Given the description of an element on the screen output the (x, y) to click on. 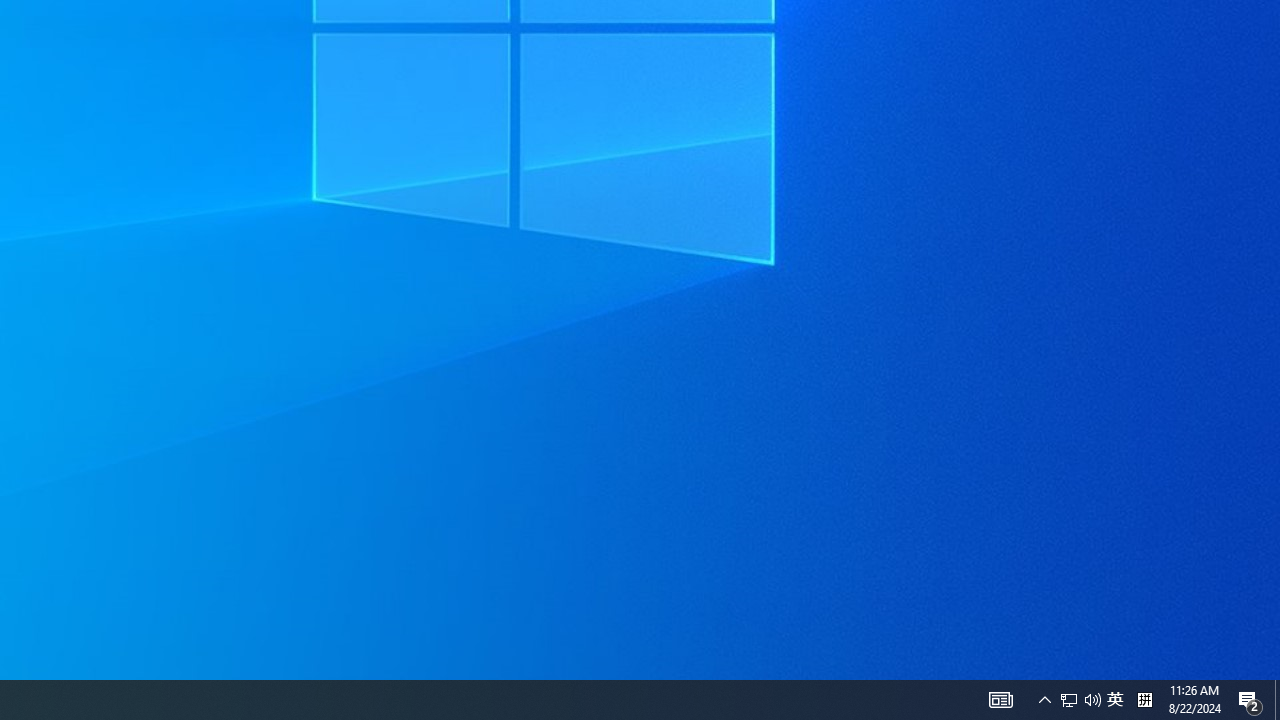
Notification Chevron (1044, 699)
User Promoted Notification Area (1080, 699)
Q2790: 100% (1069, 699)
Show desktop (1092, 699)
Action Center, 2 new notifications (1277, 699)
AutomationID: 4105 (1250, 699)
Tray Input Indicator - Chinese (Simplified, China) (1115, 699)
